Given the description of an element on the screen output the (x, y) to click on. 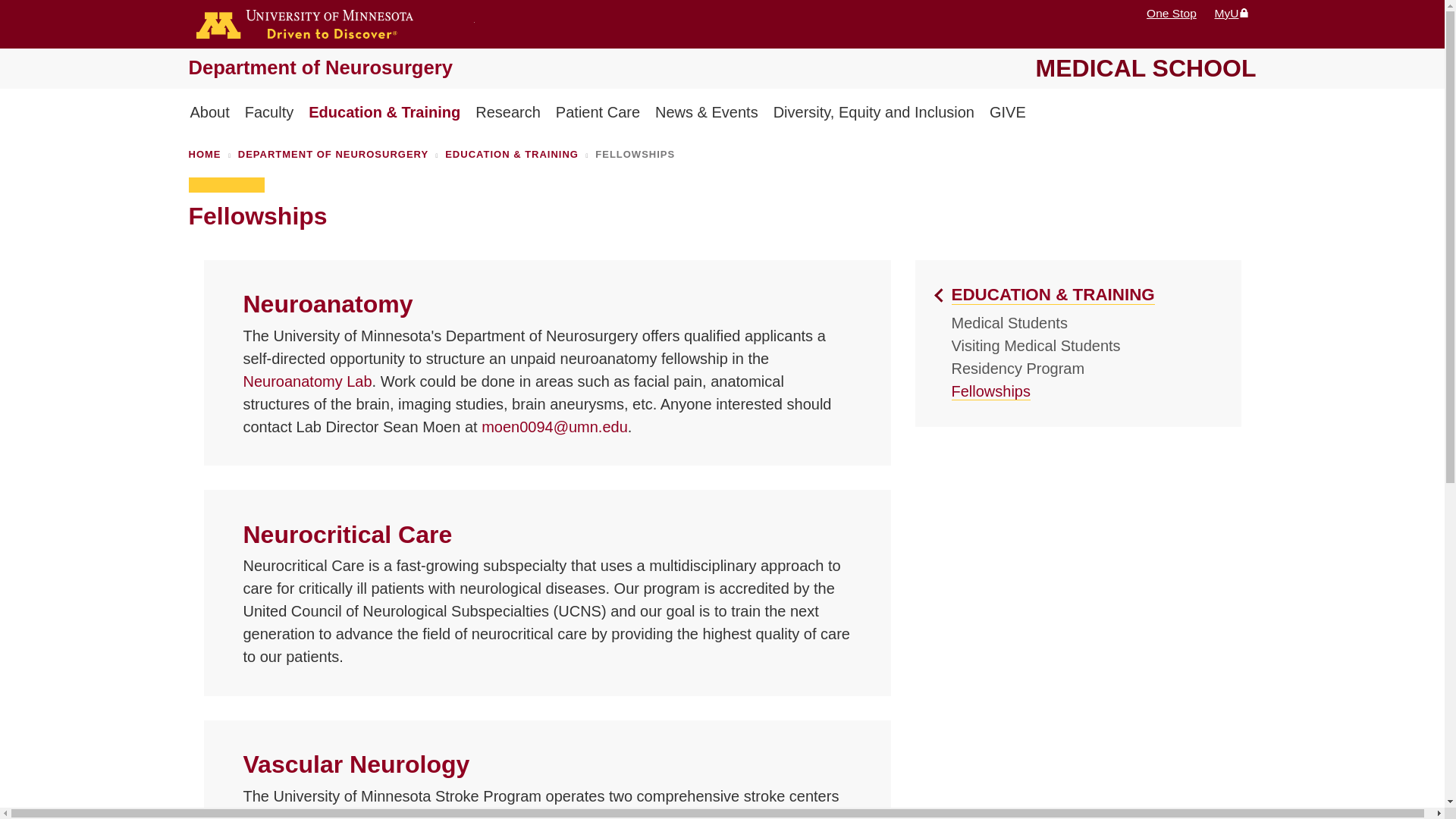
About (208, 114)
Patient Care (597, 114)
One Stop (1171, 12)
Department of Neurosurgery (319, 67)
Faculty (269, 114)
MEDICAL SCHOOL (1145, 67)
Research (507, 114)
MyU (1231, 12)
